Given the description of an element on the screen output the (x, y) to click on. 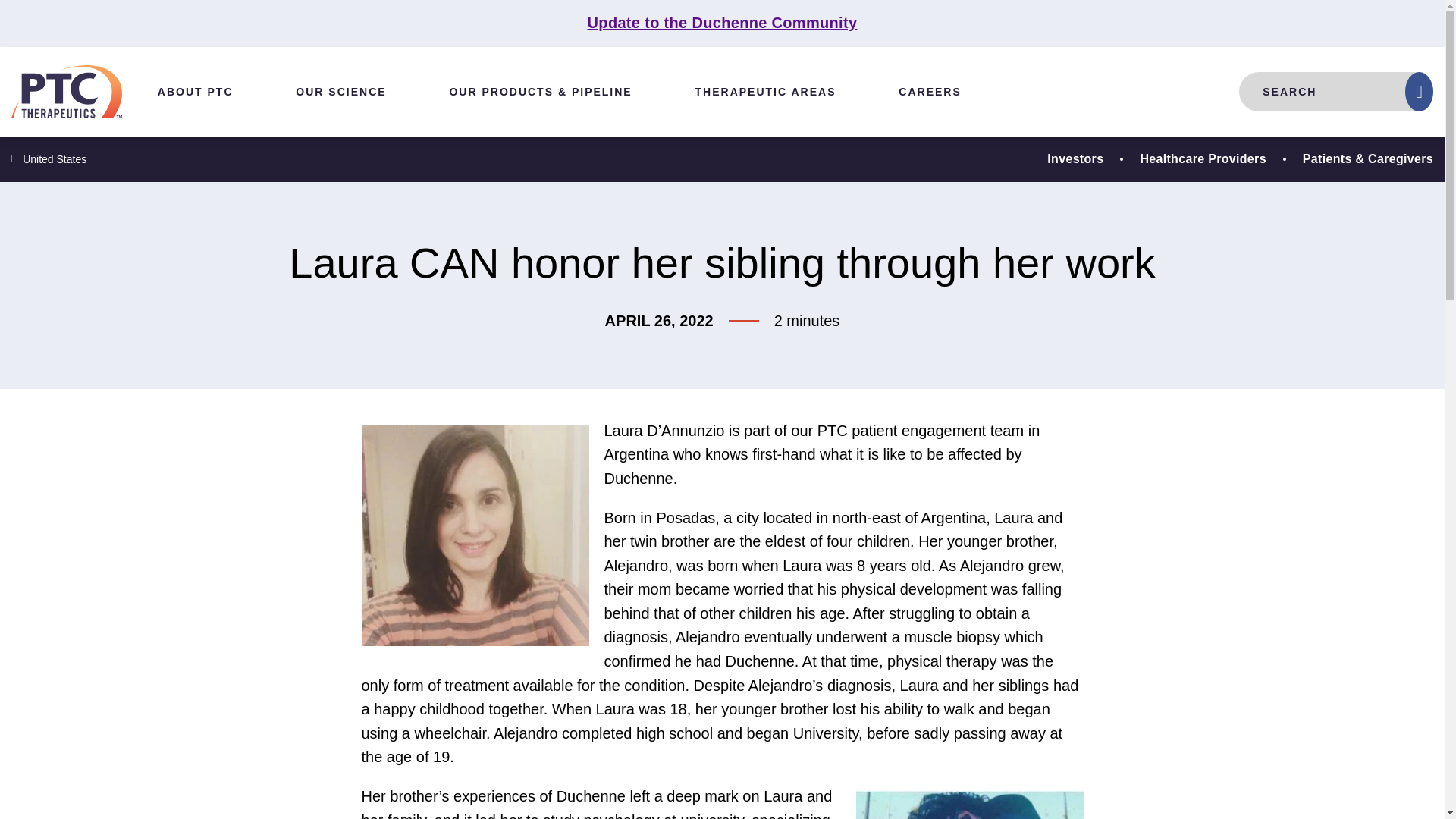
THERAPEUTIC AREAS (765, 91)
ABOUT PTC (194, 91)
OUR SCIENCE (340, 91)
CAREERS (929, 91)
Update to the Duchenne Community (722, 22)
